Given the description of an element on the screen output the (x, y) to click on. 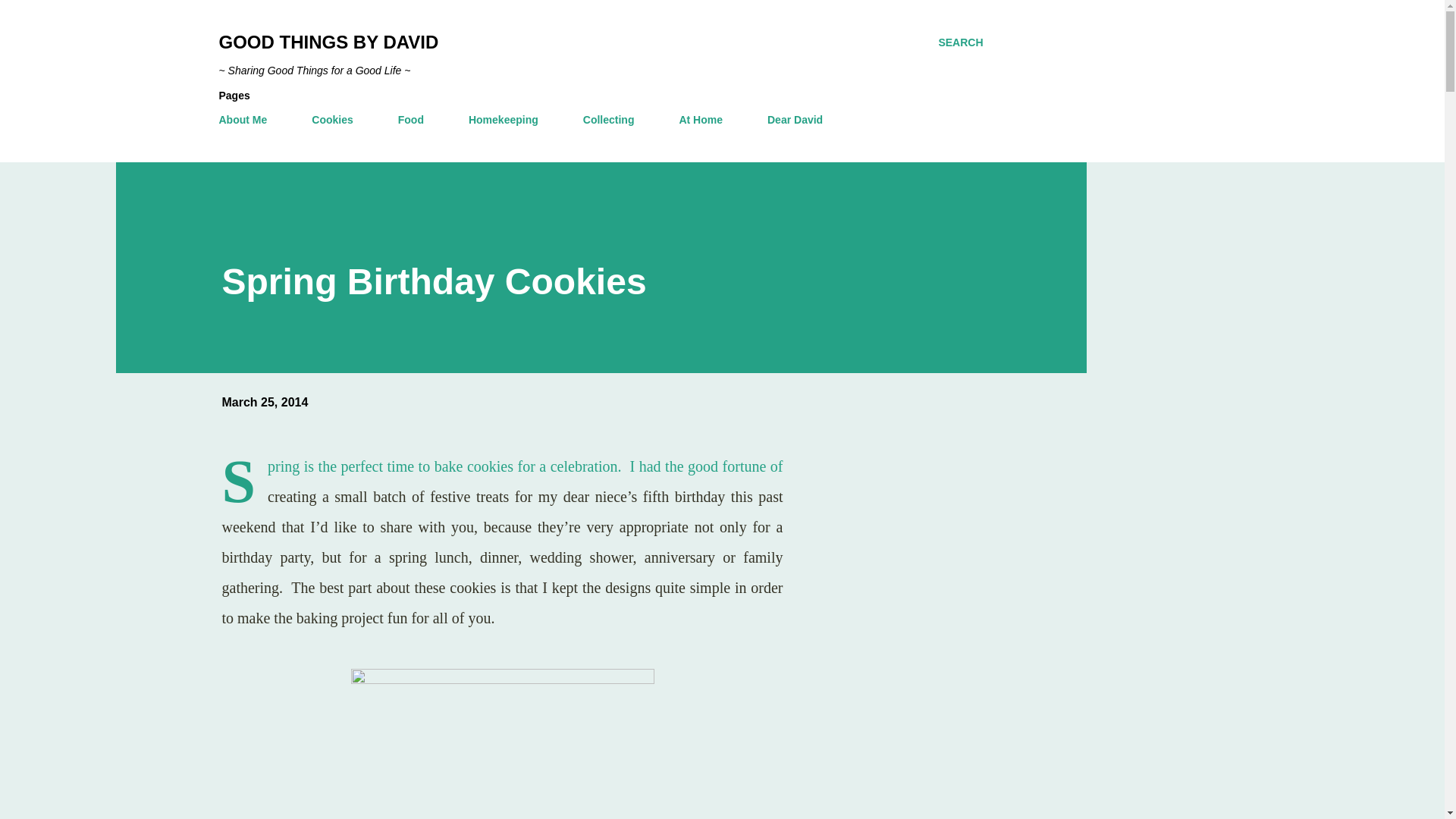
permanent link (264, 401)
At Home (700, 119)
Collecting (608, 119)
About Me (247, 119)
Homekeeping (503, 119)
GOOD THINGS BY DAVID (328, 41)
Dear David (794, 119)
SEARCH (959, 42)
March 25, 2014 (264, 401)
Cookies (331, 119)
